Given the description of an element on the screen output the (x, y) to click on. 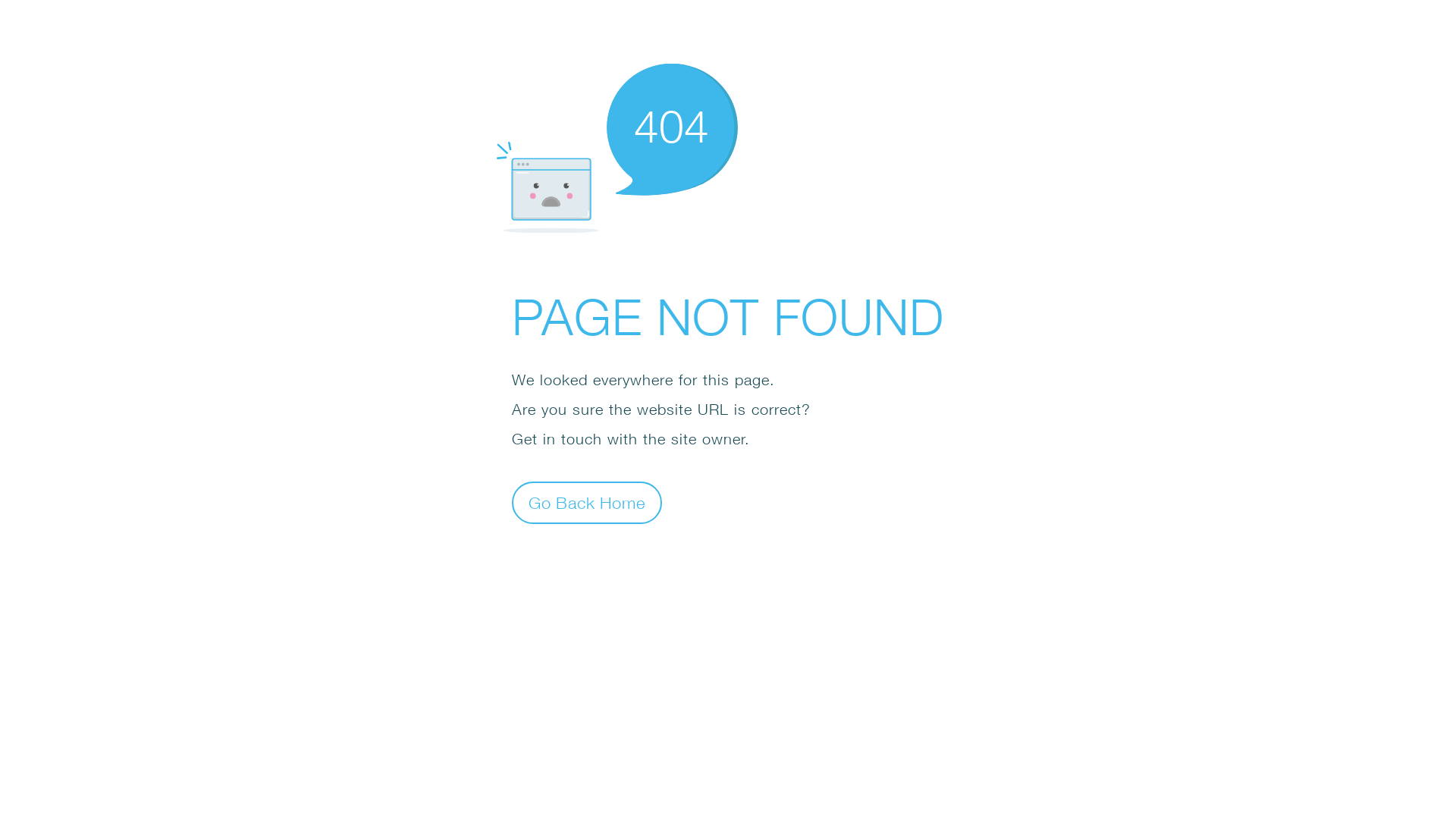
Go Back Home Element type: text (586, 502)
